Given the description of an element on the screen output the (x, y) to click on. 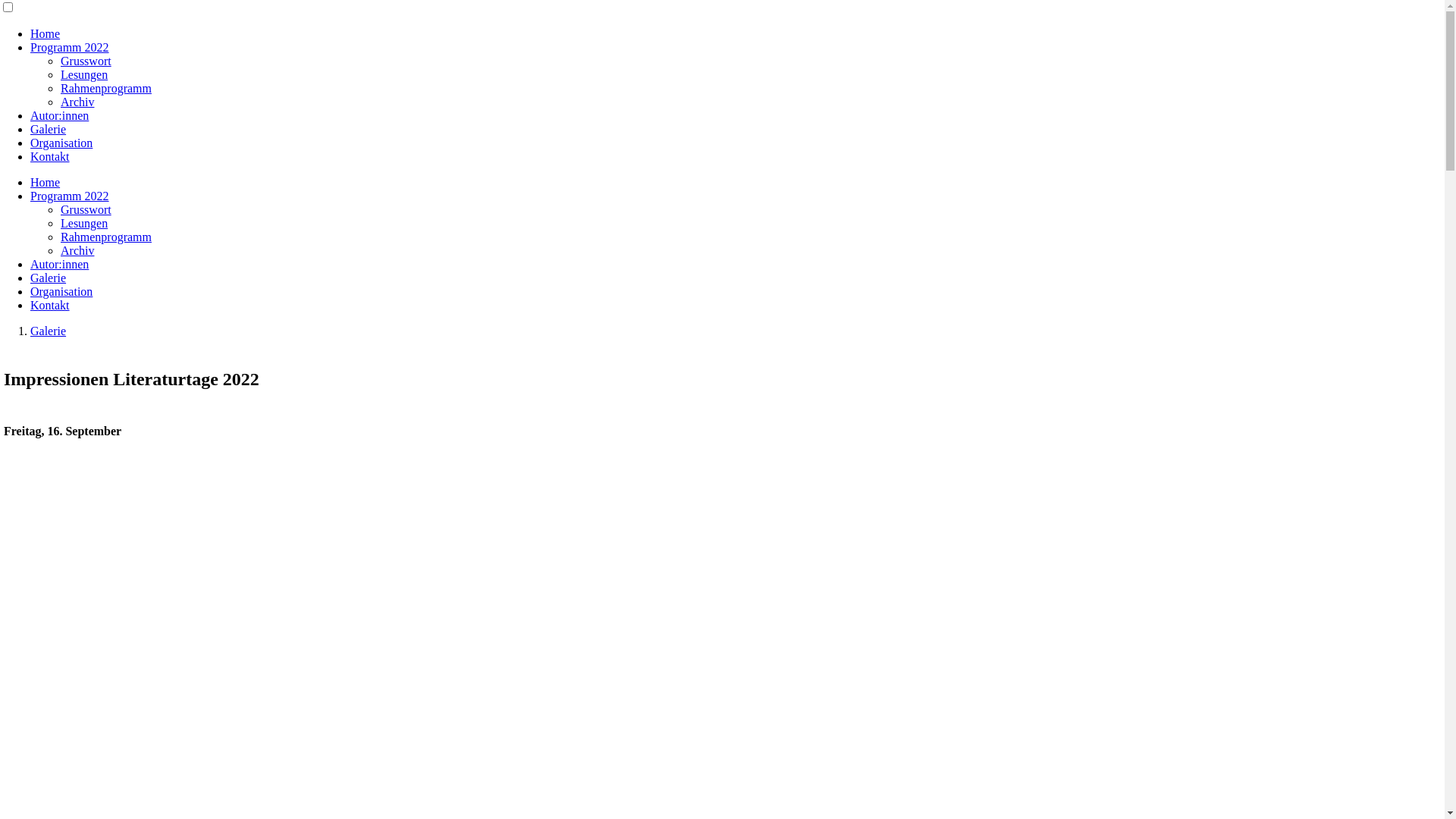
Grusswort Element type: text (85, 60)
Grusswort Element type: text (85, 209)
Autor:innen Element type: text (59, 115)
Autor:innen Element type: text (59, 263)
Rahmenprogramm Element type: text (105, 236)
Galerie Element type: text (47, 277)
Programm 2022 Element type: text (69, 46)
Galerie Element type: text (47, 128)
Home Element type: text (44, 181)
Organisation Element type: text (61, 142)
Archiv Element type: text (77, 101)
Home Element type: text (44, 33)
Galerie Element type: text (47, 330)
Programm 2022 Element type: text (69, 195)
Lesungen Element type: text (83, 74)
Organisation Element type: text (61, 291)
Rahmenprogramm Element type: text (105, 87)
Lesungen Element type: text (83, 222)
Kontakt Element type: text (49, 304)
Kontakt Element type: text (49, 156)
Archiv Element type: text (77, 250)
